Given the description of an element on the screen output the (x, y) to click on. 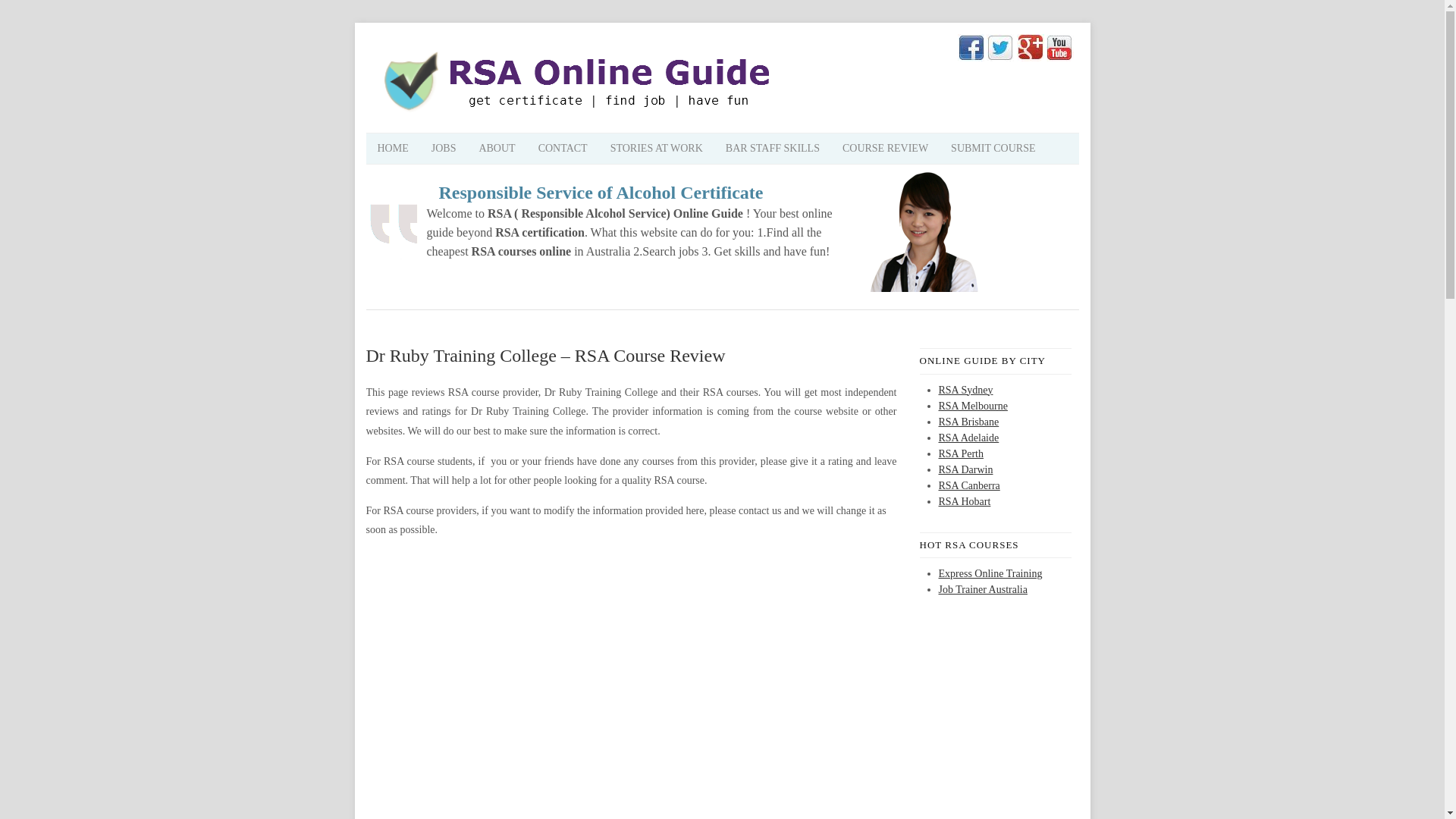
RSA Brisbane (968, 420)
Advertisement (542, 285)
SUBMIT COURSE (992, 148)
ABOUT (496, 148)
RSA Melbourne (973, 405)
Advertisement (630, 796)
RSA Darwin (965, 469)
CONTACT (562, 148)
RSA Adelaide (968, 437)
STORIES AT WORK (656, 148)
RSA Sydney (965, 389)
RSA Hobart (965, 501)
Job Trainer Australia (983, 589)
JOBS (443, 148)
Express Online Training (990, 573)
